Given the description of an element on the screen output the (x, y) to click on. 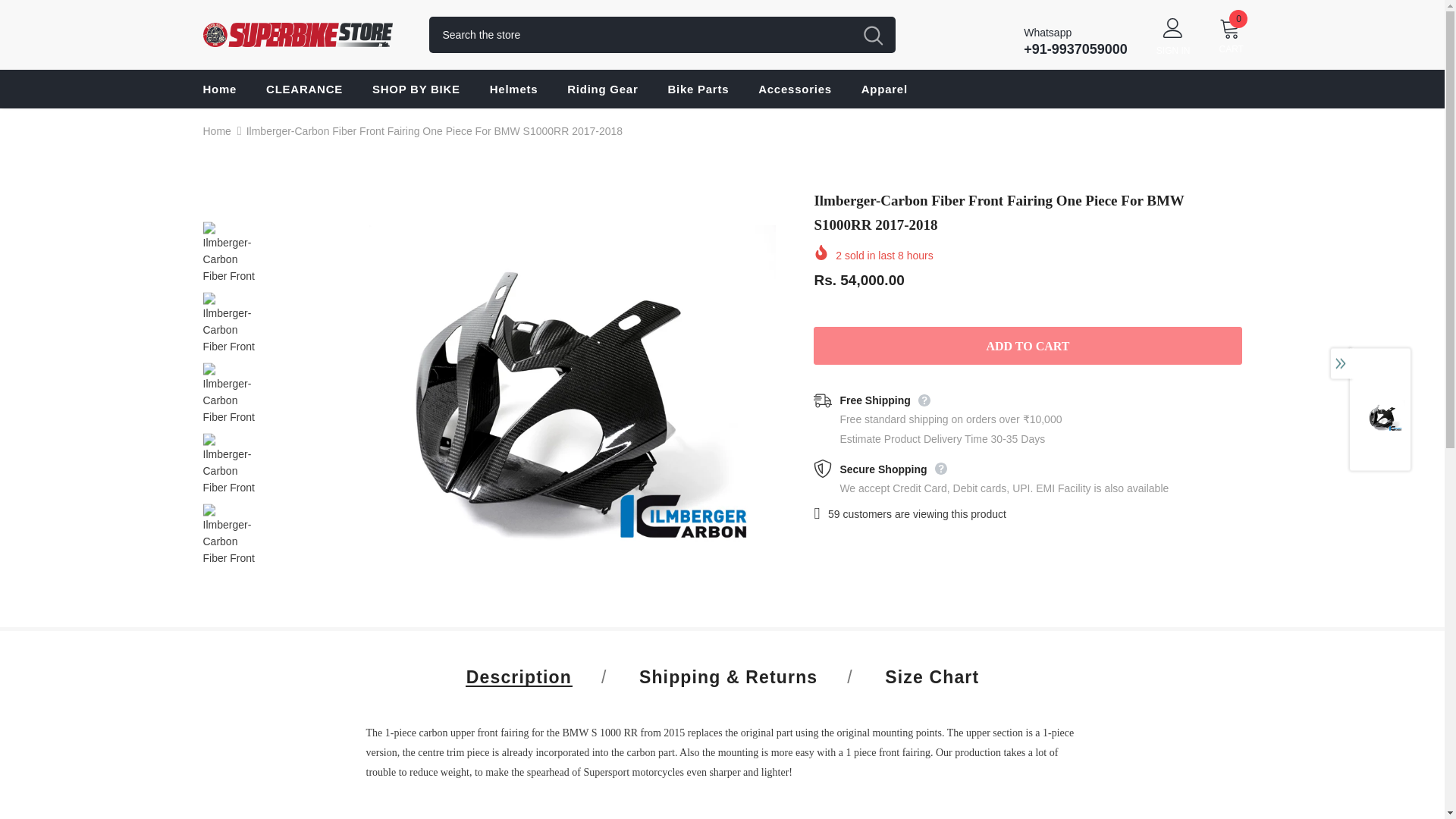
Logo (304, 34)
User Icon (1173, 26)
Add to cart (1027, 345)
